Given the description of an element on the screen output the (x, y) to click on. 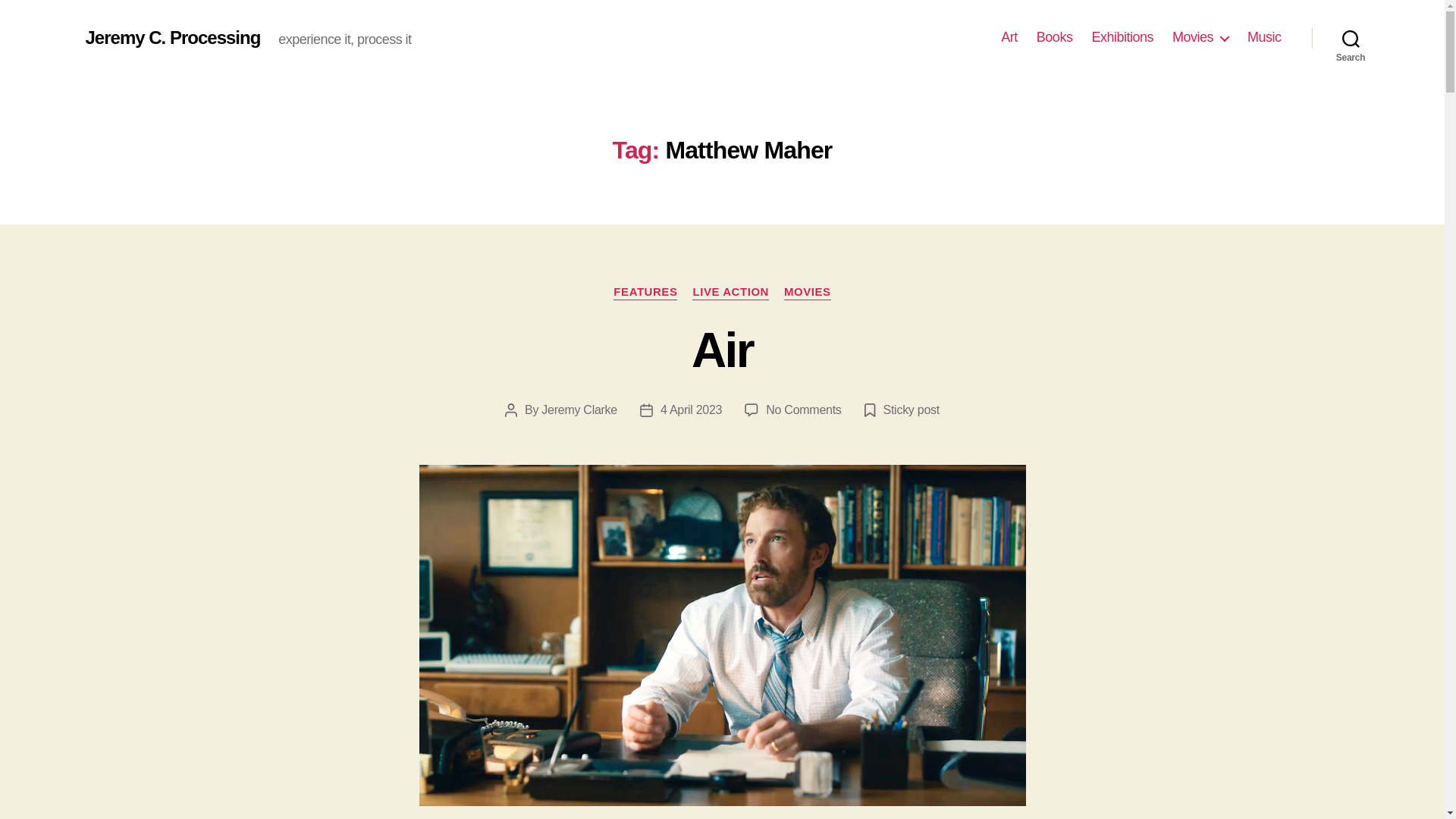
Exhibitions (1121, 37)
LIVE ACTION (730, 292)
Books (803, 409)
Jeremy C. Processing (1054, 37)
Movies (172, 37)
Jeremy Clarke (1200, 37)
FEATURES (579, 409)
MOVIES (644, 292)
Music (807, 292)
4 April 2023 (1264, 37)
Art (691, 409)
Search (1009, 37)
Air (1350, 37)
